Given the description of an element on the screen output the (x, y) to click on. 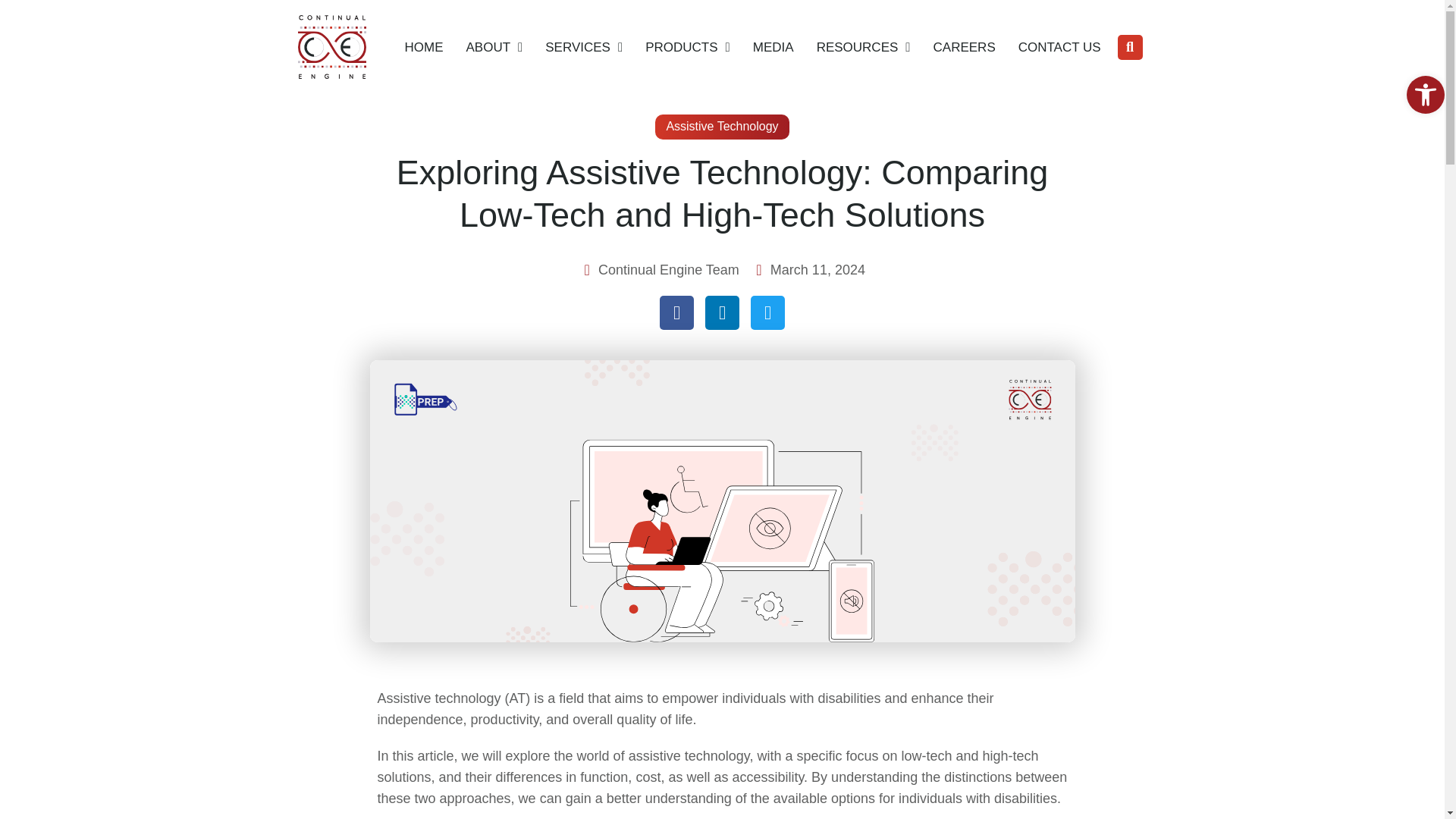
PRODUCTS (687, 47)
ABOUT (493, 47)
HOME (423, 47)
MEDIA (772, 47)
Accessibility Tools (1425, 94)
SERVICES (583, 47)
RESOURCES (863, 47)
